Given the description of an element on the screen output the (x, y) to click on. 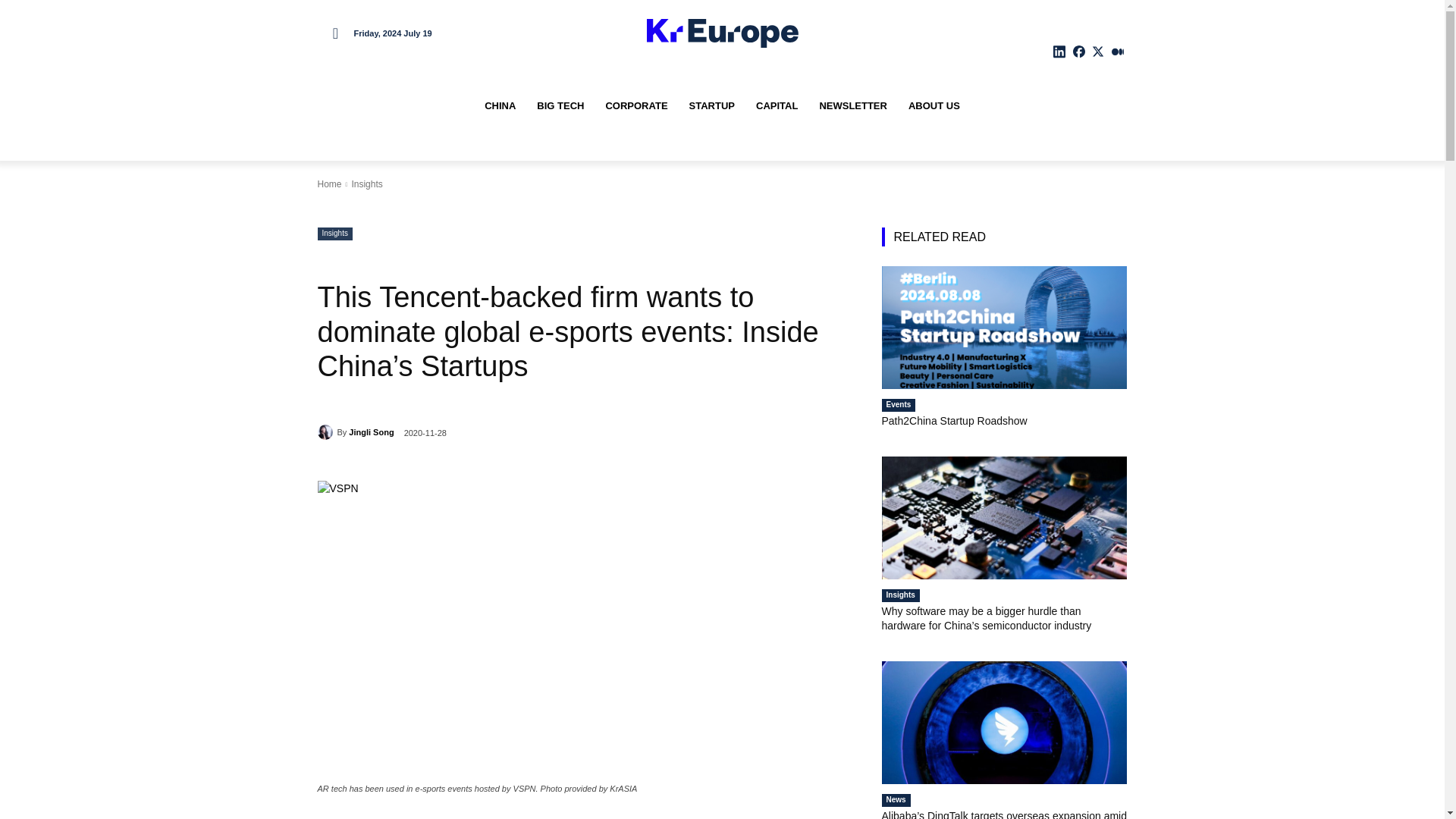
NEWSLETTER (853, 105)
BIG TECH (559, 105)
Jingli Song (371, 431)
ABOUT US (934, 105)
Jingli Song (326, 432)
STARTUP (711, 105)
Insights (365, 184)
CORPORATE (636, 105)
CHINA (499, 105)
View all posts in Insights (365, 184)
Insights (334, 233)
Home (328, 184)
CAPITAL (776, 105)
